Given the description of an element on the screen output the (x, y) to click on. 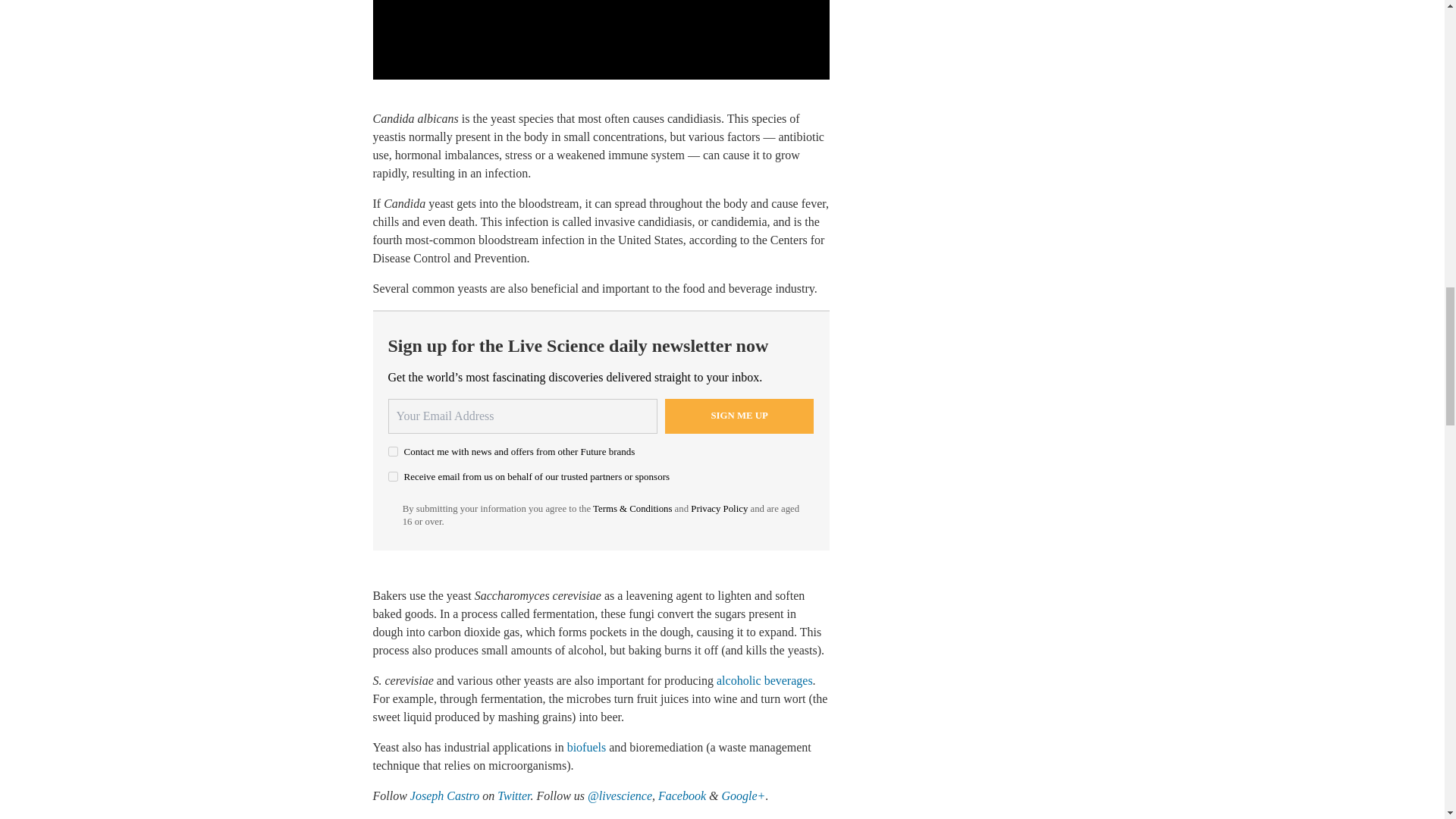
Sign me up (739, 416)
on (392, 451)
on (392, 476)
